Given the description of an element on the screen output the (x, y) to click on. 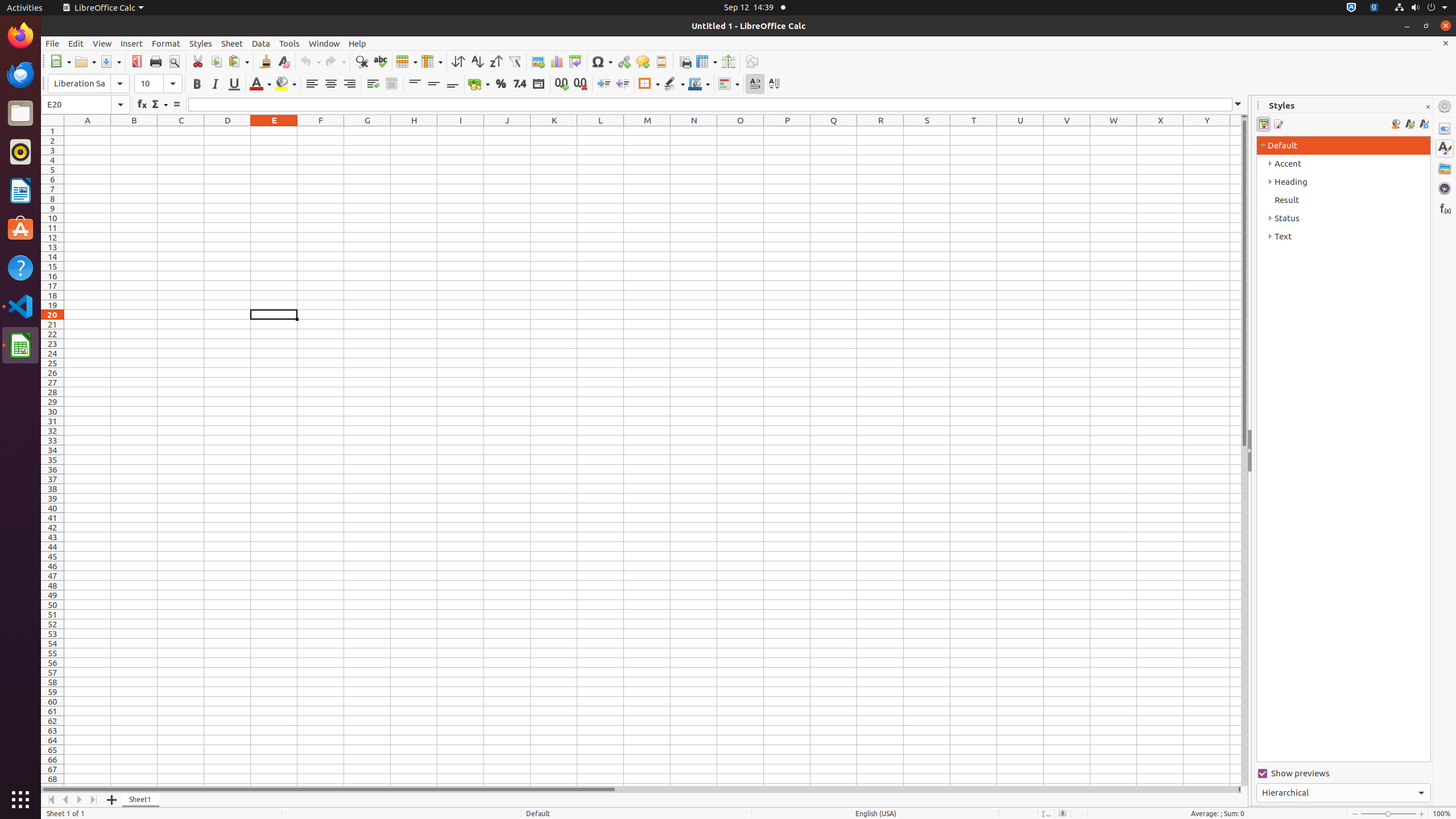
Delete Decimal Place Element type: push-button (580, 83)
G1 Element type: table-cell (367, 130)
I1 Element type: table-cell (460, 130)
R1 Element type: table-cell (880, 130)
Image Element type: push-button (537, 61)
